Given the description of an element on the screen output the (x, y) to click on. 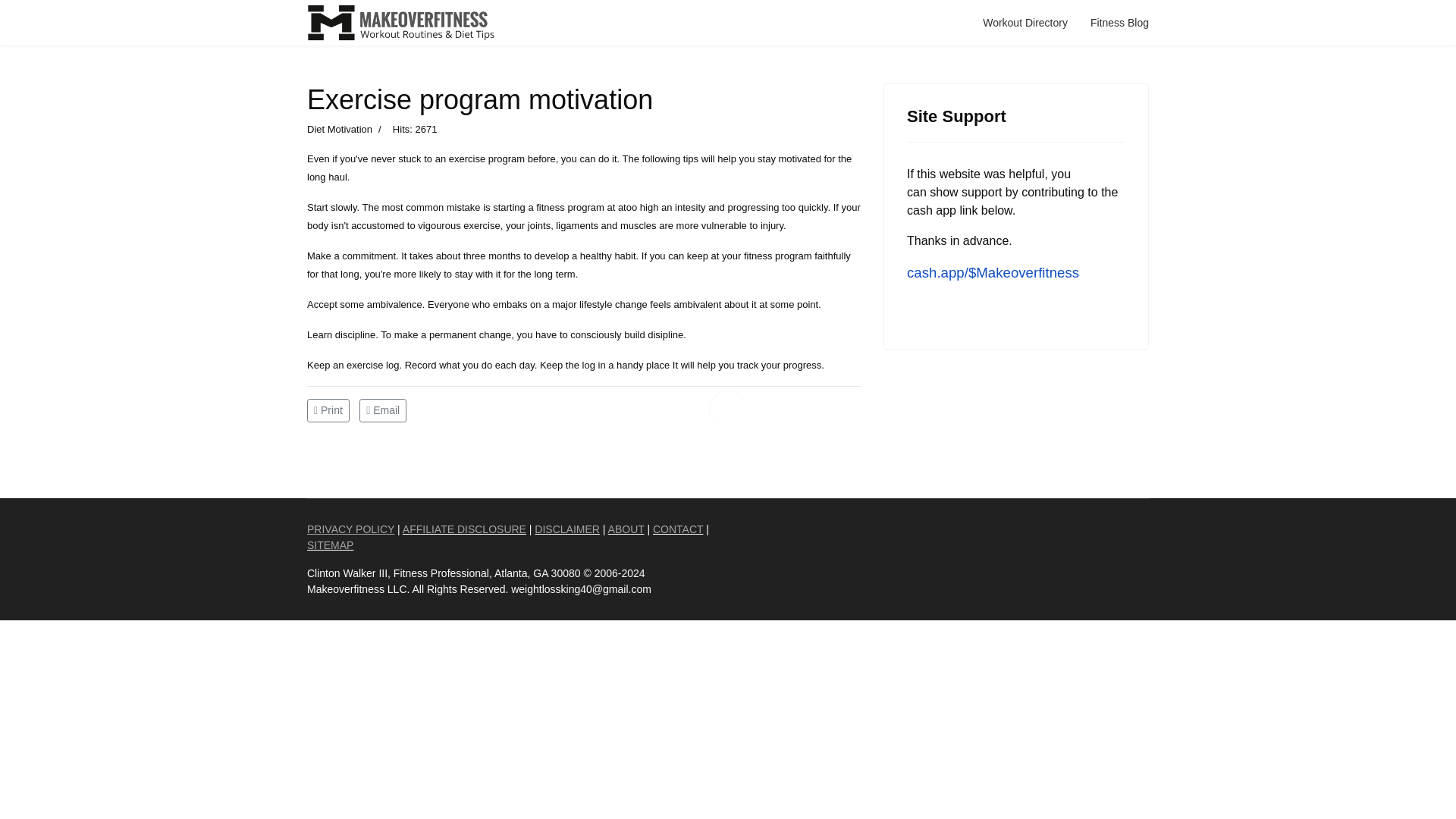
Print (329, 408)
Fitness Blog (1119, 22)
Email this link to a friend (382, 408)
CONTACT (677, 529)
DISCLAIMER (566, 529)
ABOUT (626, 529)
SITEMAP (330, 544)
AFFILIATE DISCLOSURE (464, 529)
PRIVACY POLICY (350, 529)
Workout Directory (1024, 22)
Email (382, 408)
Diet Motivation (339, 129)
Category: Diet Motivation (339, 129)
